Given the description of an element on the screen output the (x, y) to click on. 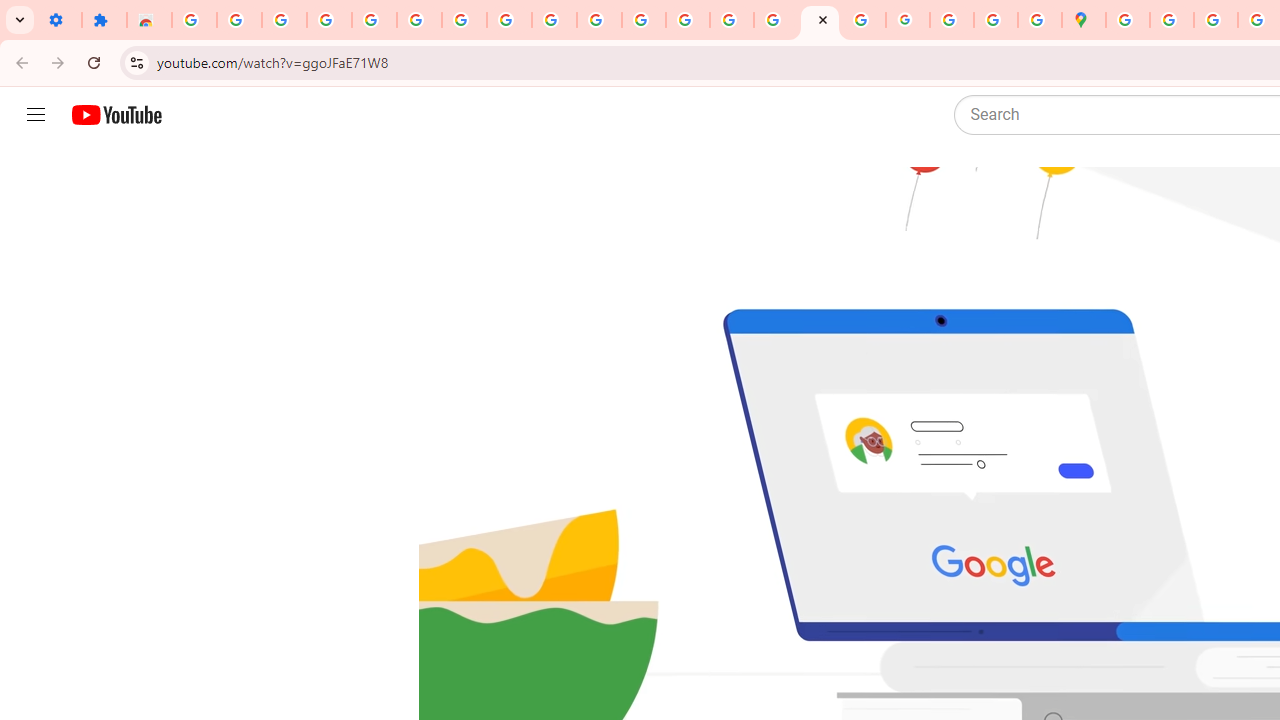
Sign in - Google Accounts (194, 20)
Privacy Help Center - Policies Help (687, 20)
Guide (35, 115)
